Given the description of an element on the screen output the (x, y) to click on. 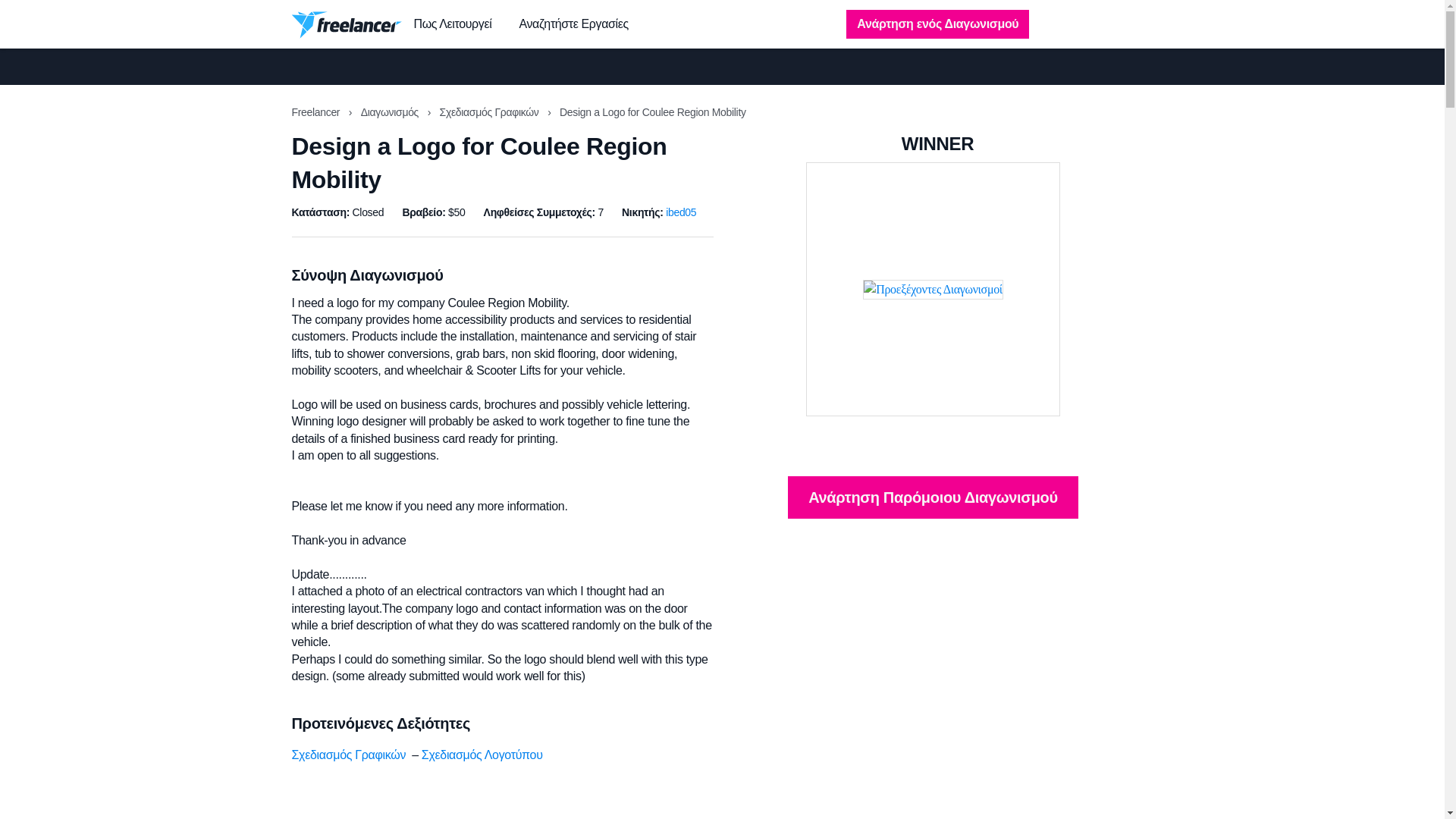
ibed05 (680, 212)
Freelancer (316, 111)
